Given the description of an element on the screen output the (x, y) to click on. 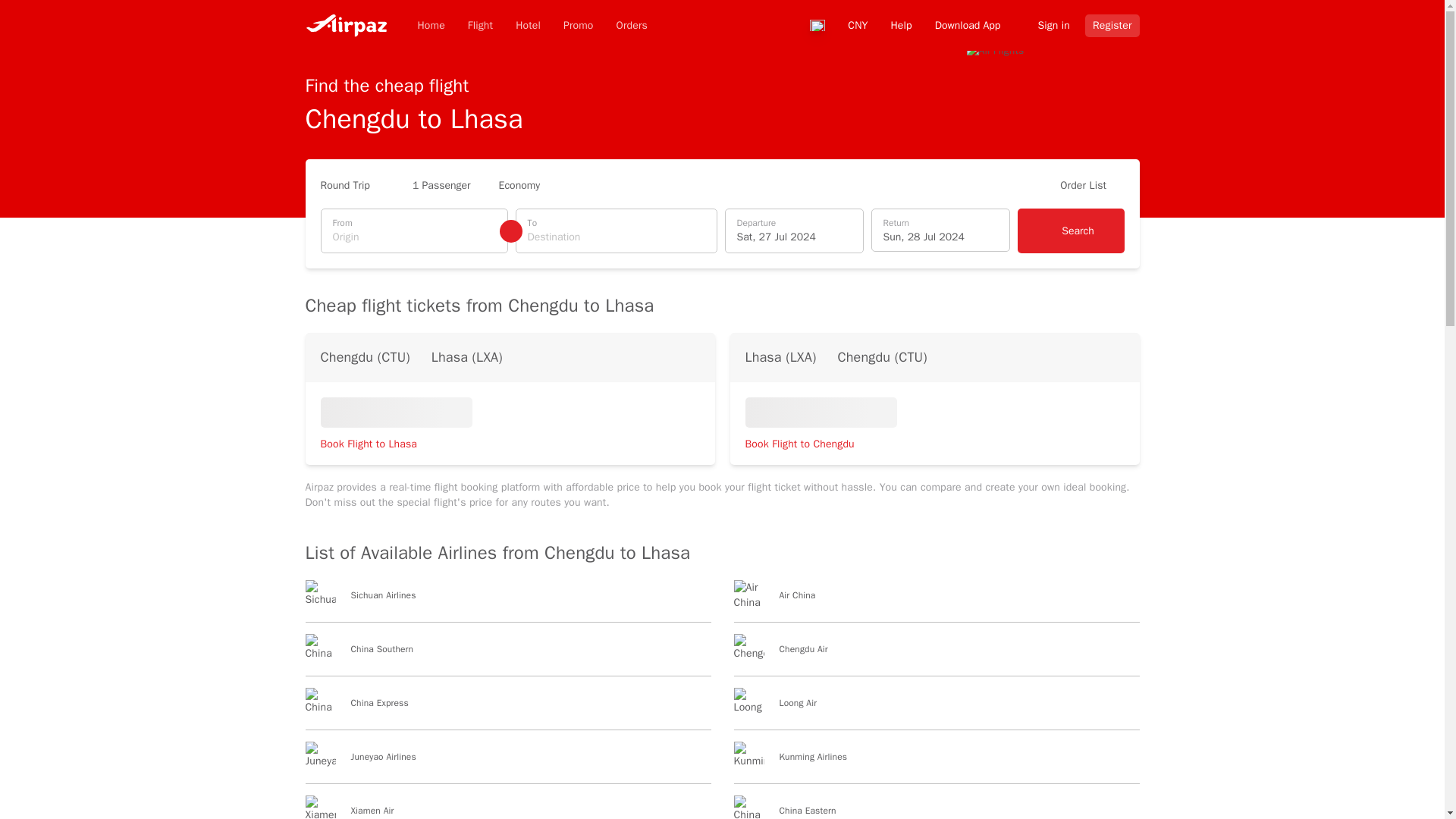
Book Flight to Lhasa (374, 443)
Promo (578, 25)
1 Passenger (440, 185)
Orders (631, 25)
Xiamen Air (507, 807)
Help (900, 24)
Book Flight to Chengdu (805, 443)
Sichuan Airlines (507, 600)
Sign in (1045, 24)
China Express (507, 708)
Flight (480, 25)
Economy (526, 185)
Home (430, 25)
China Southern (507, 654)
Kunming Airlines (936, 762)
